Given the description of an element on the screen output the (x, y) to click on. 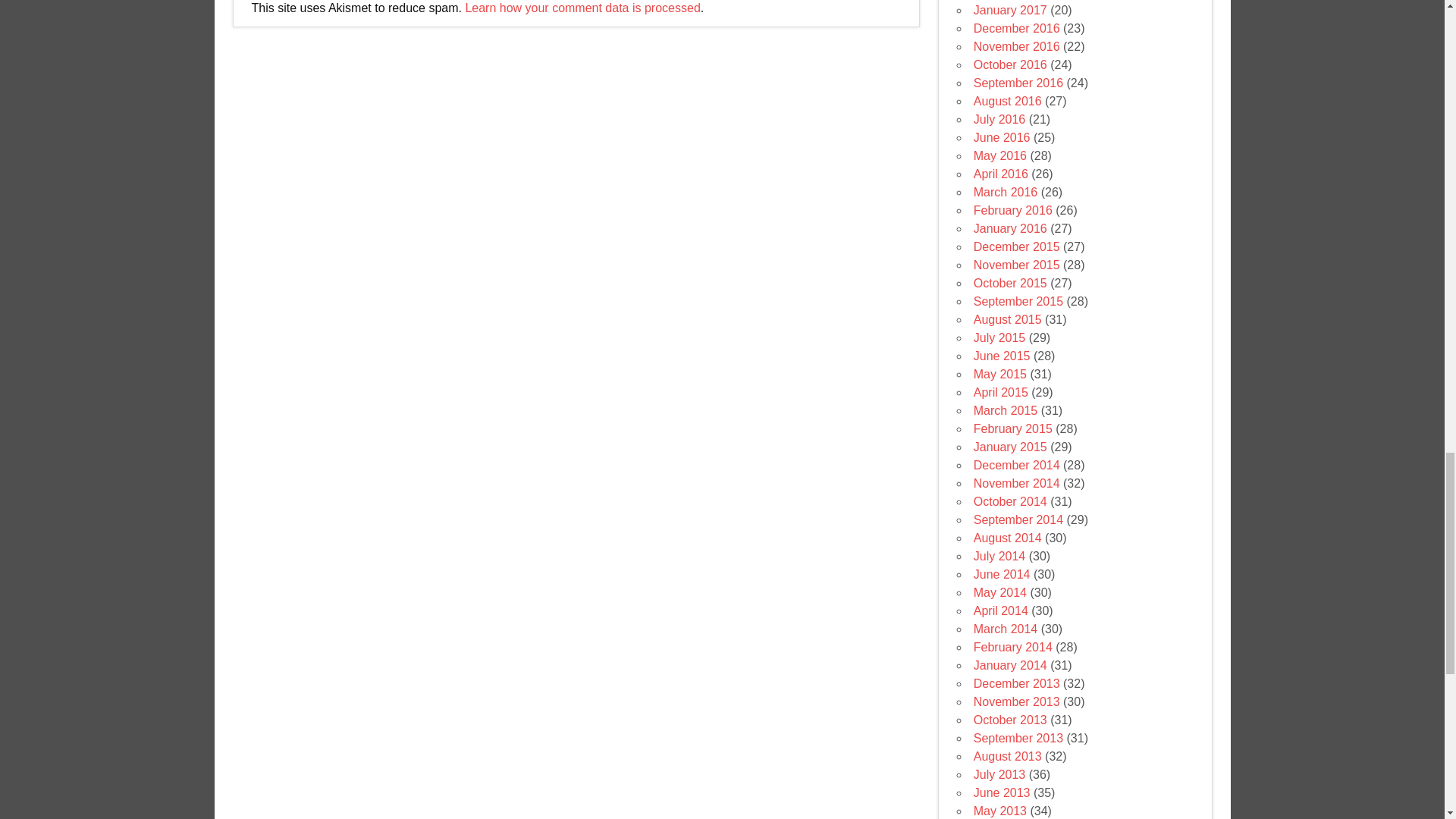
Learn how your comment data is processed (582, 7)
